Given the description of an element on the screen output the (x, y) to click on. 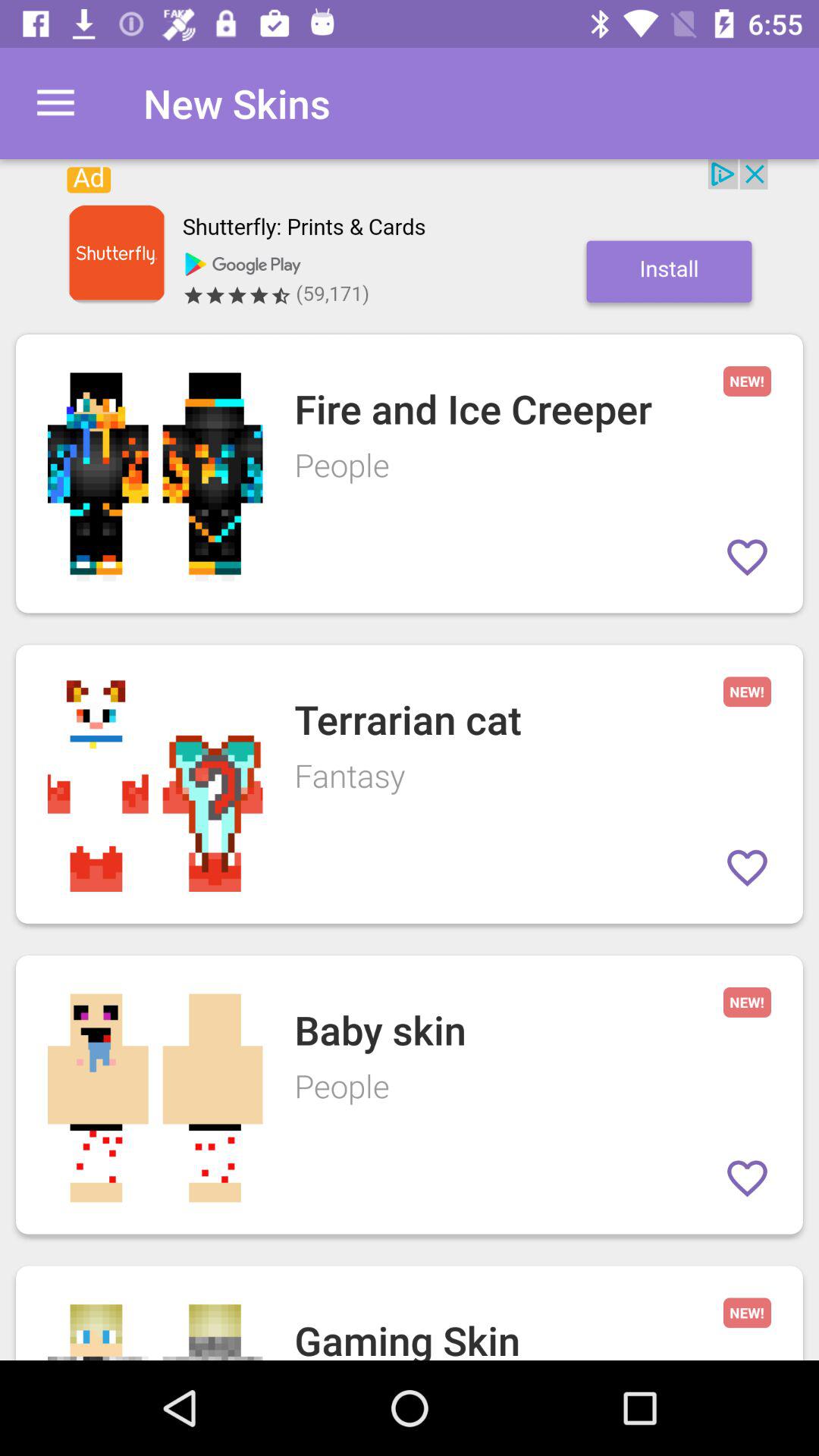
add to favorite button (747, 1178)
